Given the description of an element on the screen output the (x, y) to click on. 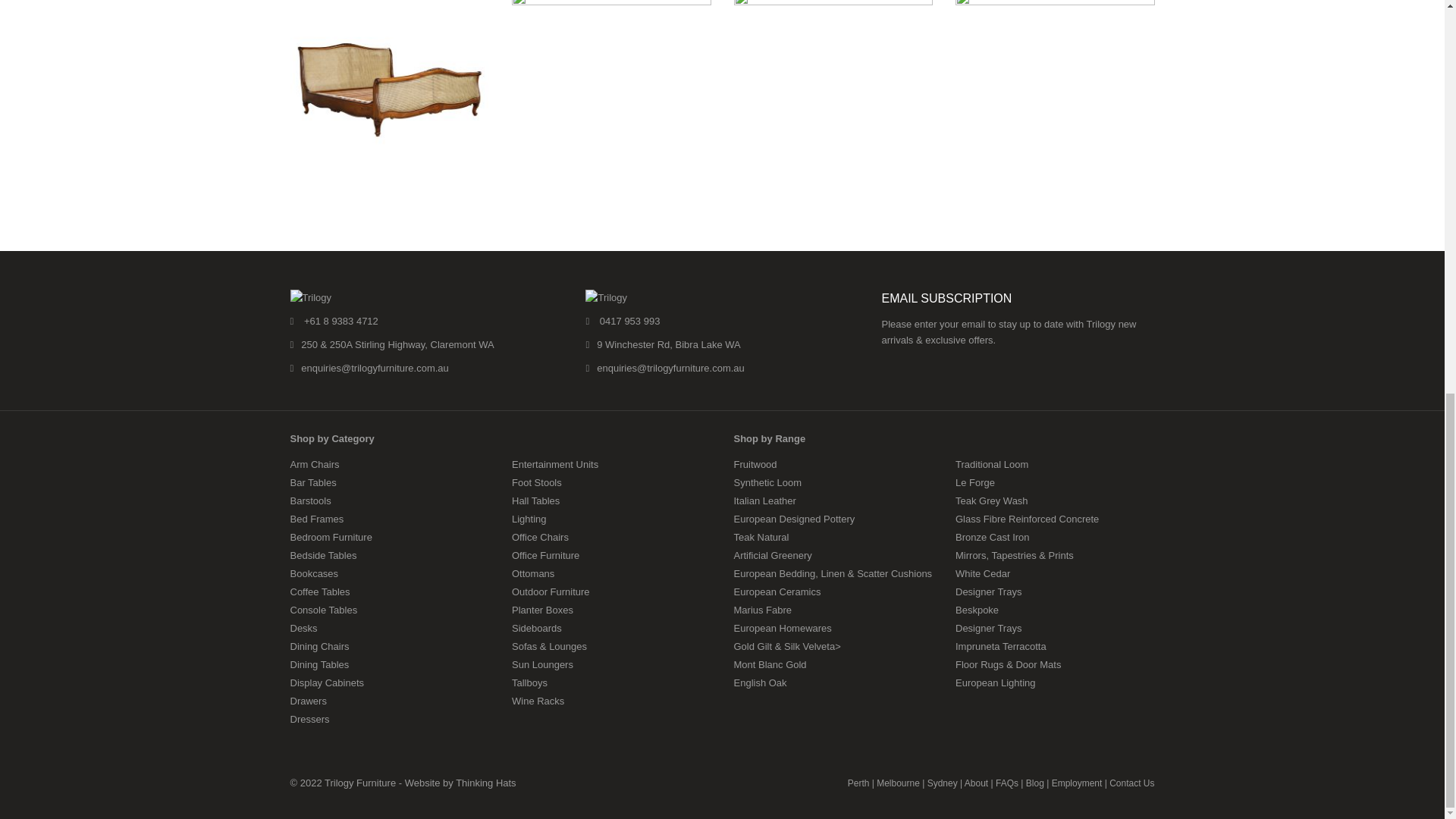
Sydney (942, 783)
About (975, 783)
Range (1006, 783)
Thinking Hats (485, 782)
Perth (858, 783)
Melbourne (898, 783)
